Given the description of an element on the screen output the (x, y) to click on. 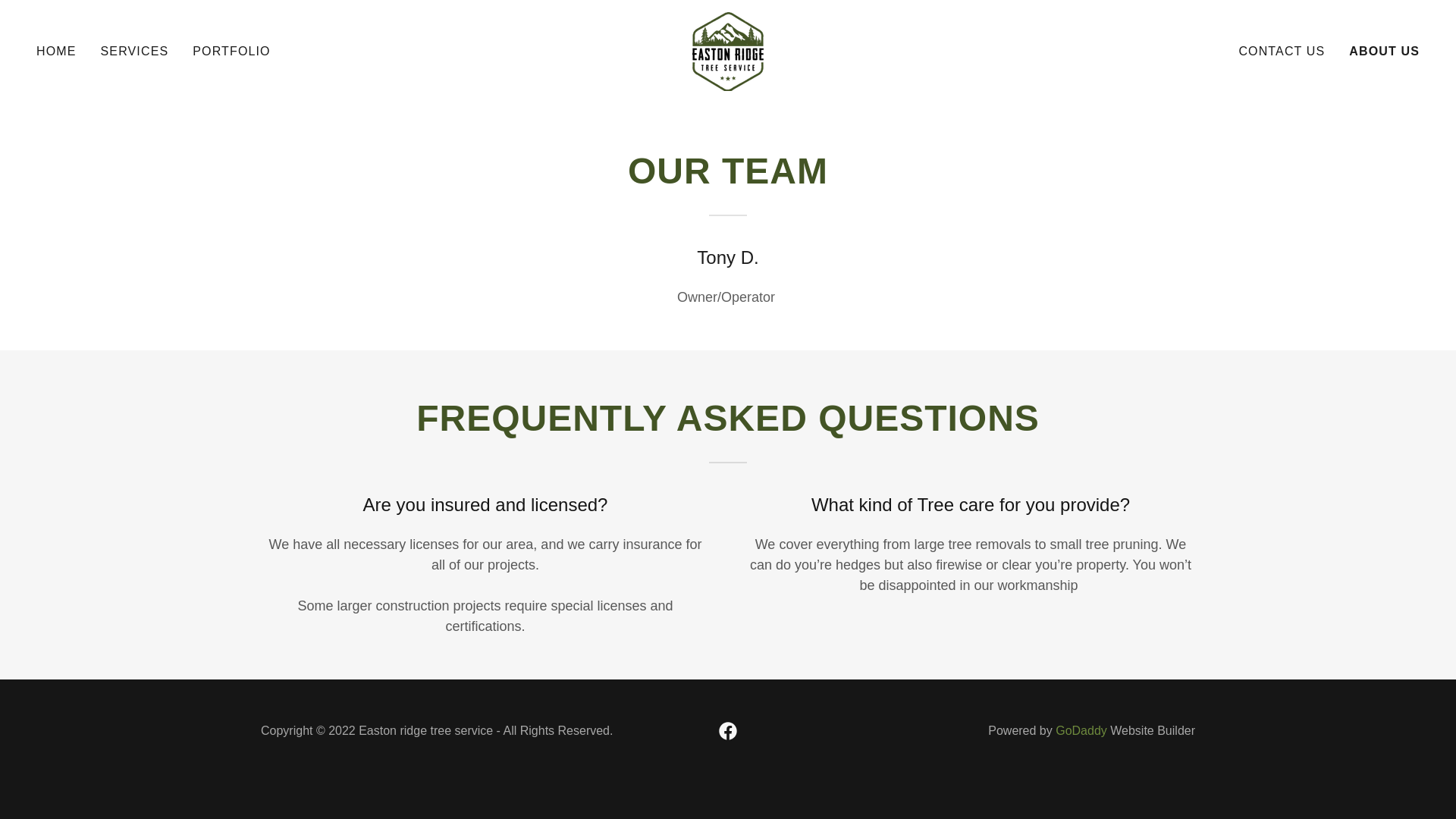
ABOUT US (1384, 51)
SERVICES (134, 51)
GoDaddy (1080, 730)
CONTACT US (1281, 51)
HOME (56, 51)
PORTFOLIO (231, 51)
